Given the description of an element on the screen output the (x, y) to click on. 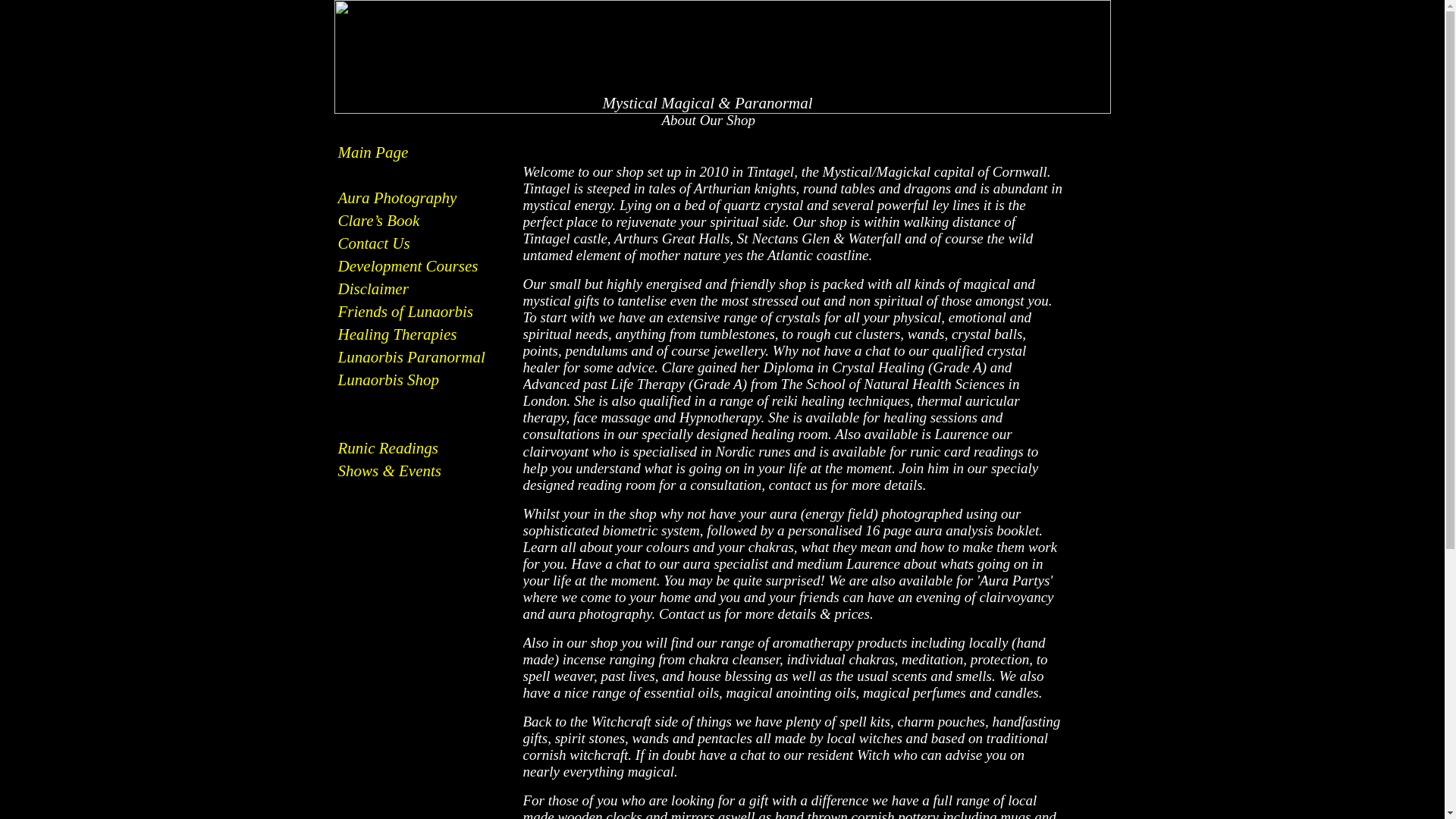
Friends of Lunaorbis (405, 311)
Disclaimer (373, 289)
Runic Readings (387, 447)
Aura Photography (397, 198)
Healing Therapies (397, 334)
Development Courses (408, 266)
Lunaorbis Shop (388, 380)
Contact Us (373, 243)
Lunaorbis Paranormal (410, 357)
Main Page (373, 152)
